Given the description of an element on the screen output the (x, y) to click on. 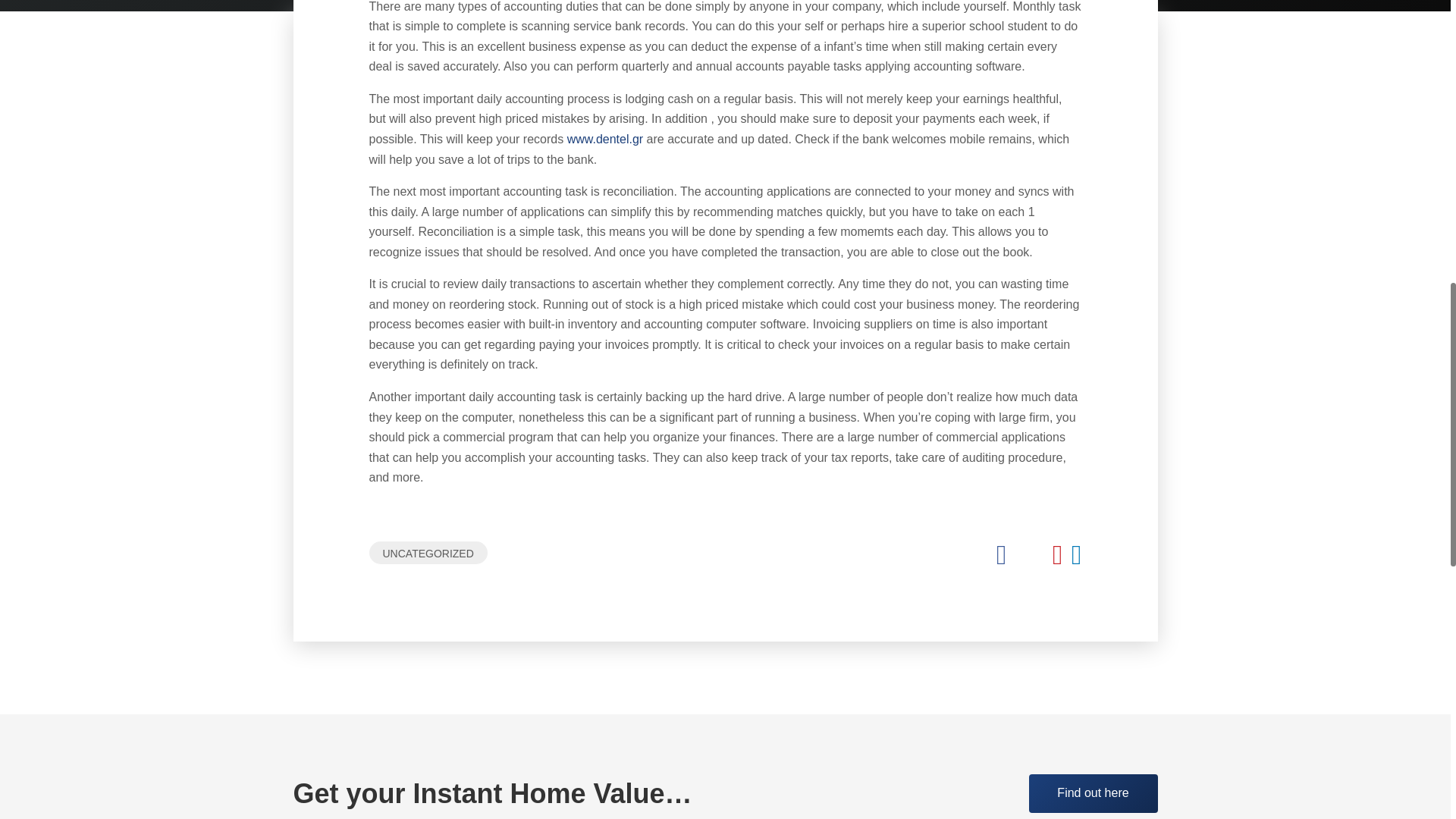
www.dentel.gr (605, 138)
Find out here (1092, 793)
UNCATEGORIZED (427, 552)
